Given the description of an element on the screen output the (x, y) to click on. 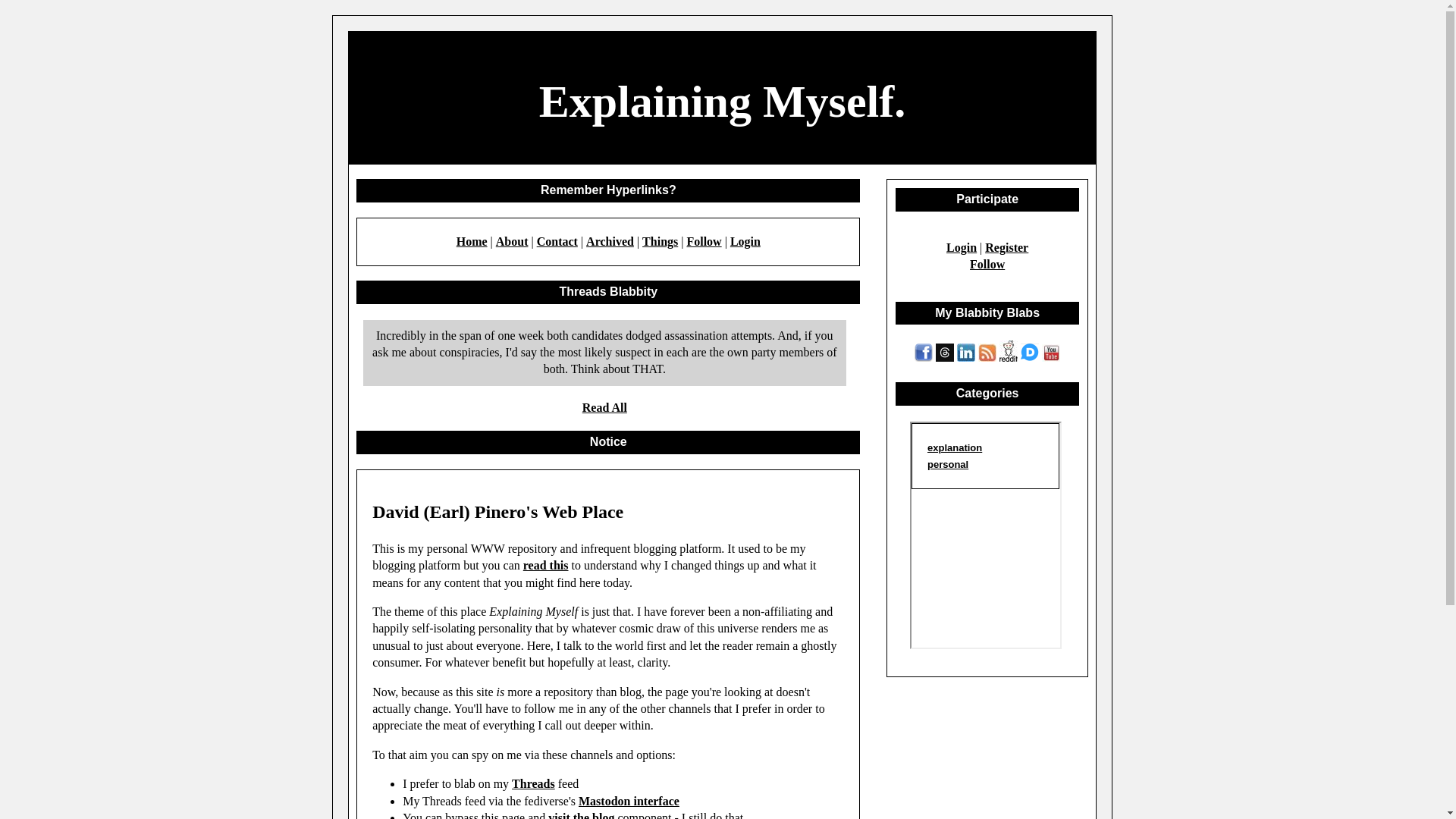
Threads (533, 783)
Follow (702, 241)
Login (745, 241)
Mastodon interface (628, 800)
Home (472, 241)
Things (660, 241)
read this (545, 564)
visit the blog (581, 815)
Archived (609, 241)
Read All (604, 407)
Contact (557, 241)
About (512, 241)
